Given the description of an element on the screen output the (x, y) to click on. 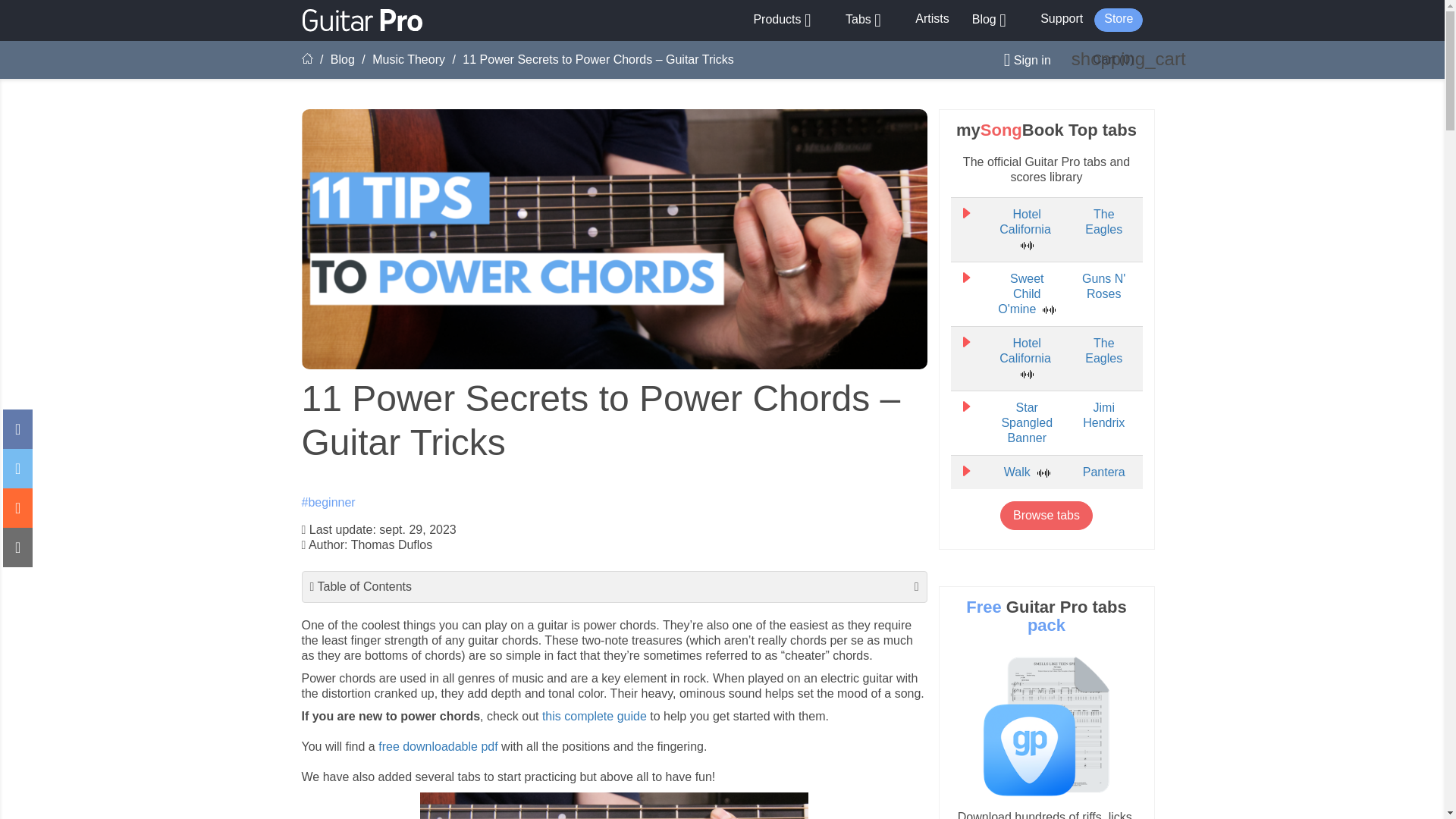
Log in to your customer account (1020, 60)
Artists (931, 18)
Audio track included (1026, 245)
Audio track included (1048, 309)
Audio track included (1042, 472)
Audio track included (1026, 374)
